Given the description of an element on the screen output the (x, y) to click on. 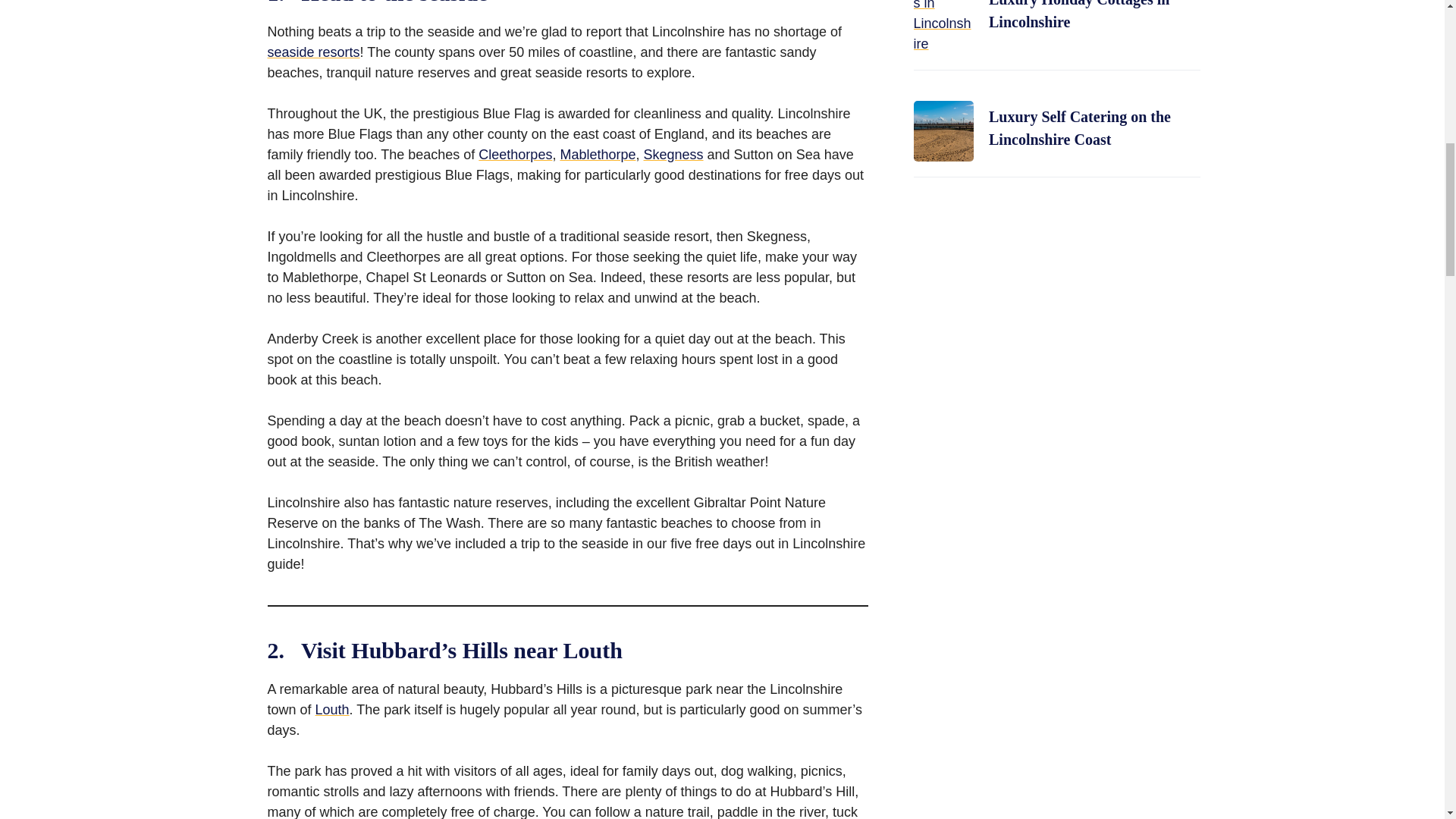
Mablethorpe (596, 154)
Louth (332, 709)
Skegness (673, 154)
Cleethorpes (515, 154)
seaside resorts (312, 52)
